Given the description of an element on the screen output the (x, y) to click on. 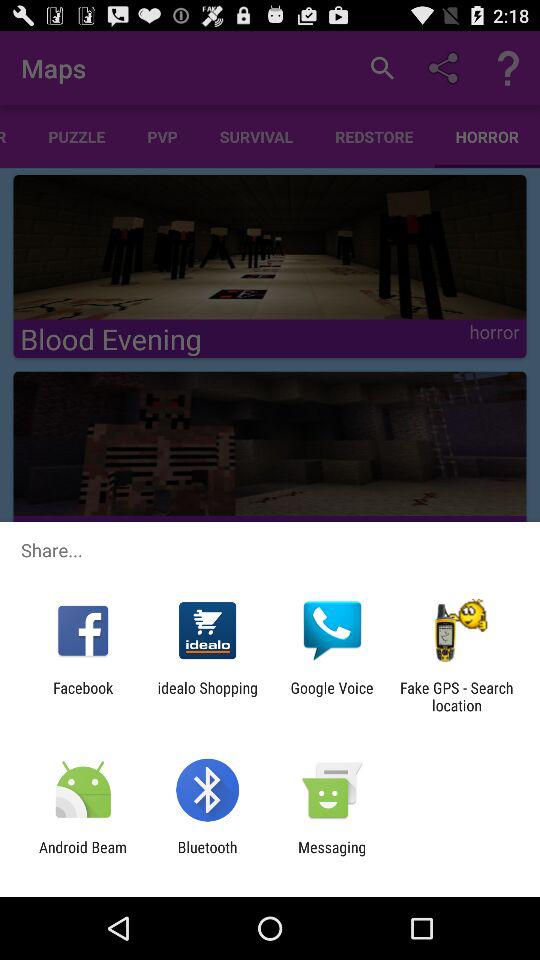
launch the item to the left of bluetooth (83, 856)
